Given the description of an element on the screen output the (x, y) to click on. 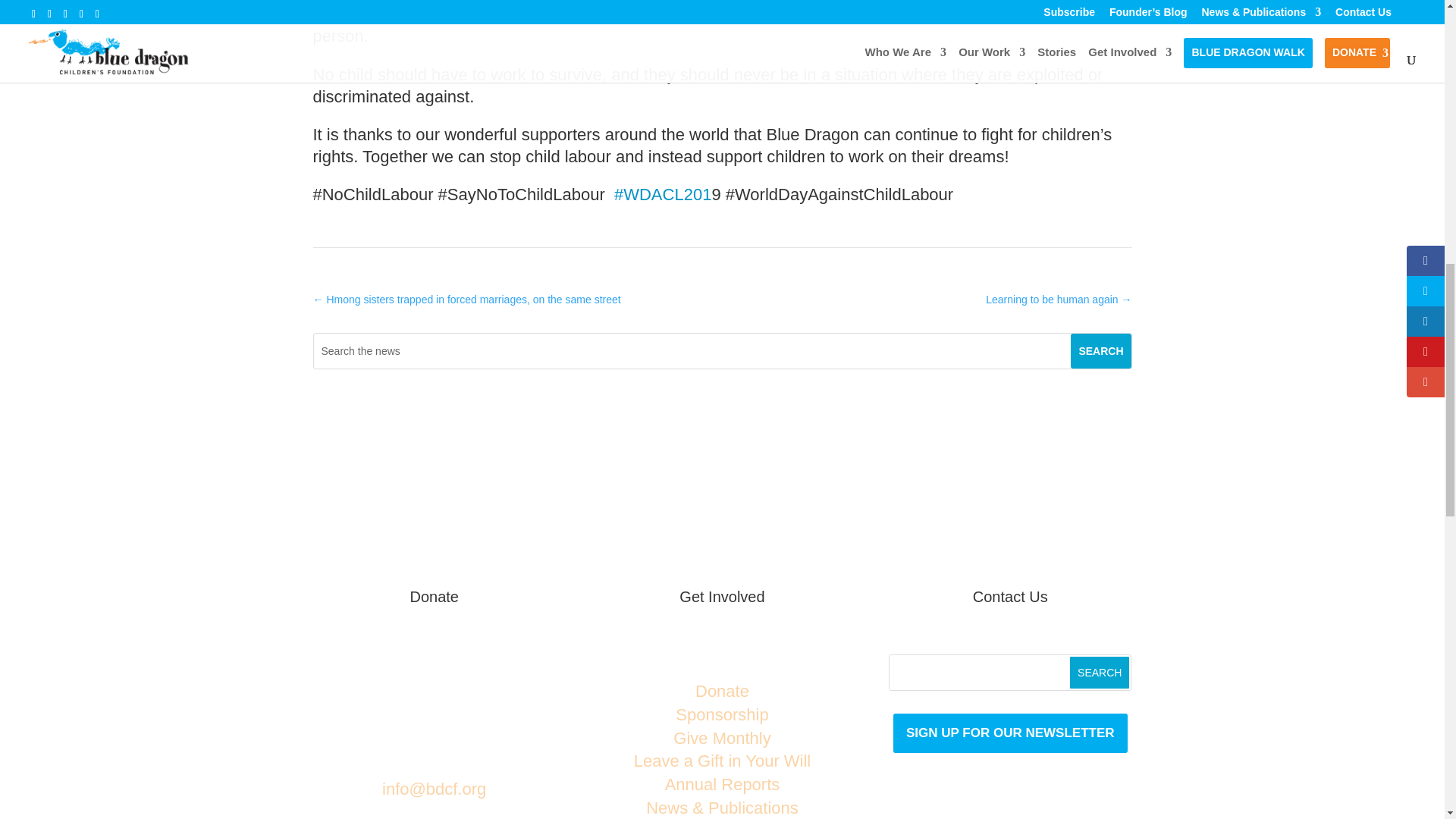
Search (1099, 672)
Search (1099, 672)
Search (1100, 350)
Search (1100, 350)
